Given the description of an element on the screen output the (x, y) to click on. 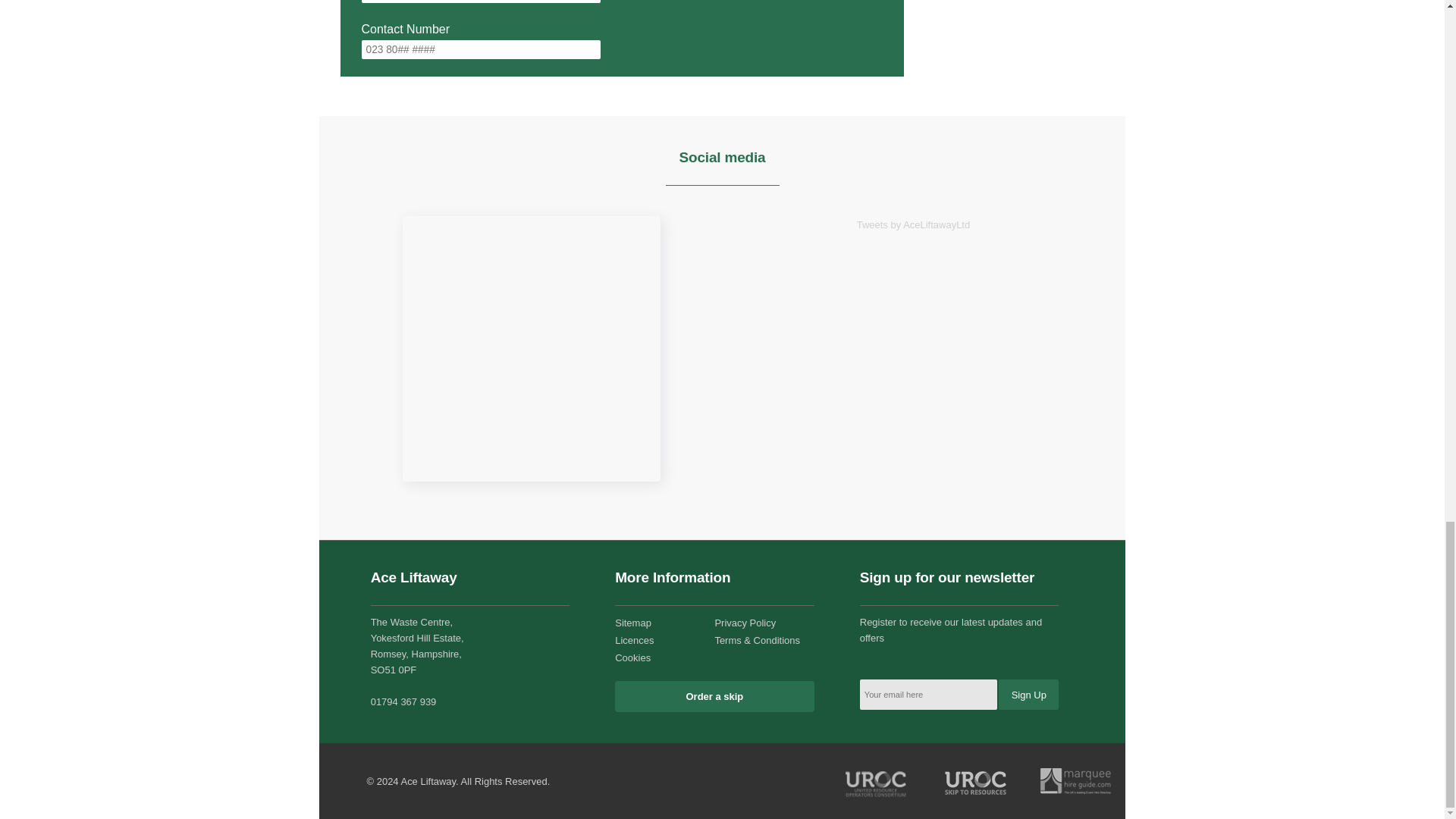
Cookies (632, 657)
Sign Up (1028, 694)
Sign Up (1028, 694)
Privacy Policy (745, 622)
Tweets by AceLiftawayLtd (913, 224)
Licences (633, 640)
Sitemap (632, 622)
logo2 (975, 780)
logo1 (1074, 780)
uroc logo full (876, 780)
